Given the description of an element on the screen output the (x, y) to click on. 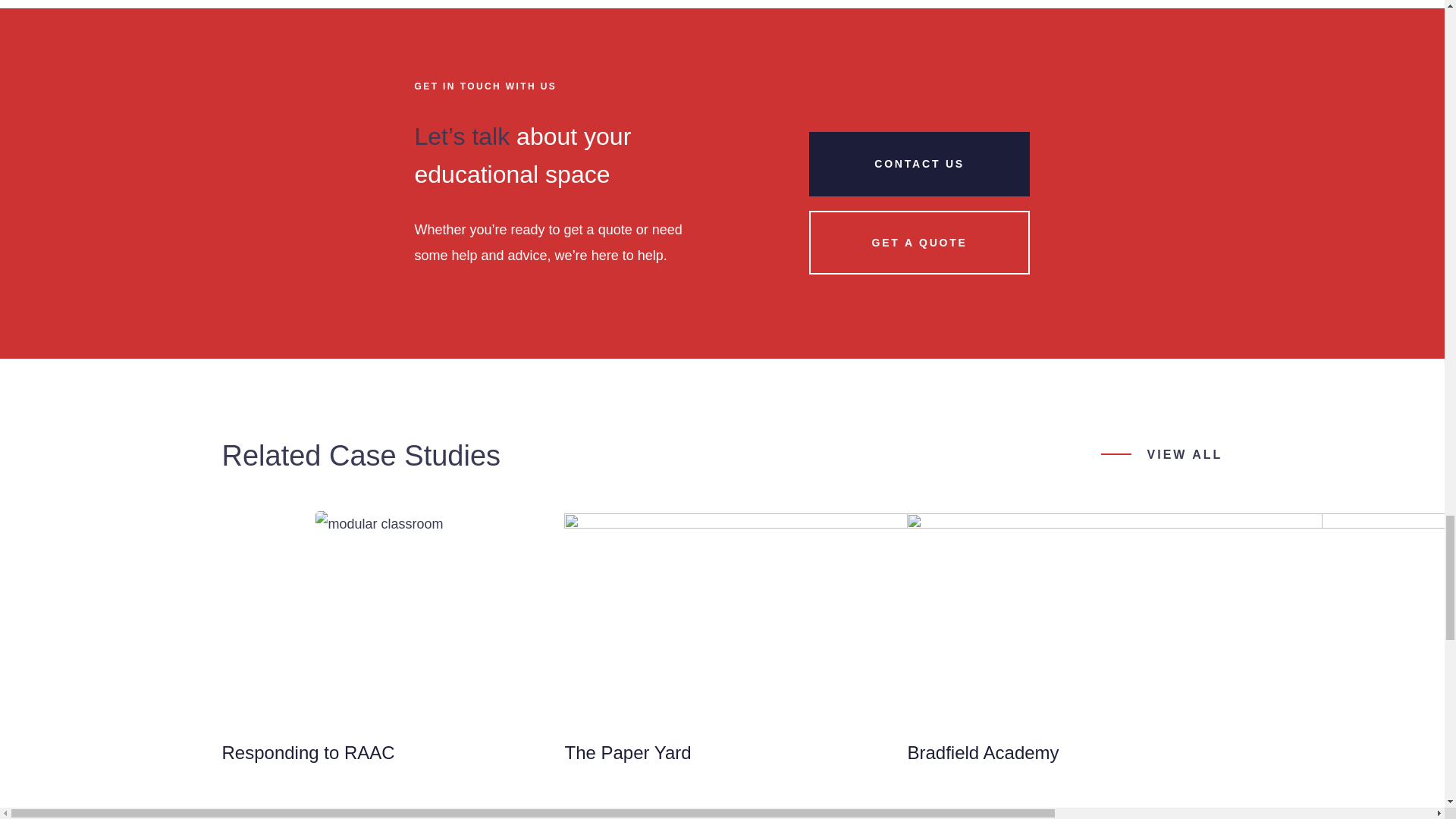
The Paper Yard (943, 713)
Responding to RAAC (378, 713)
